Given the description of an element on the screen output the (x, y) to click on. 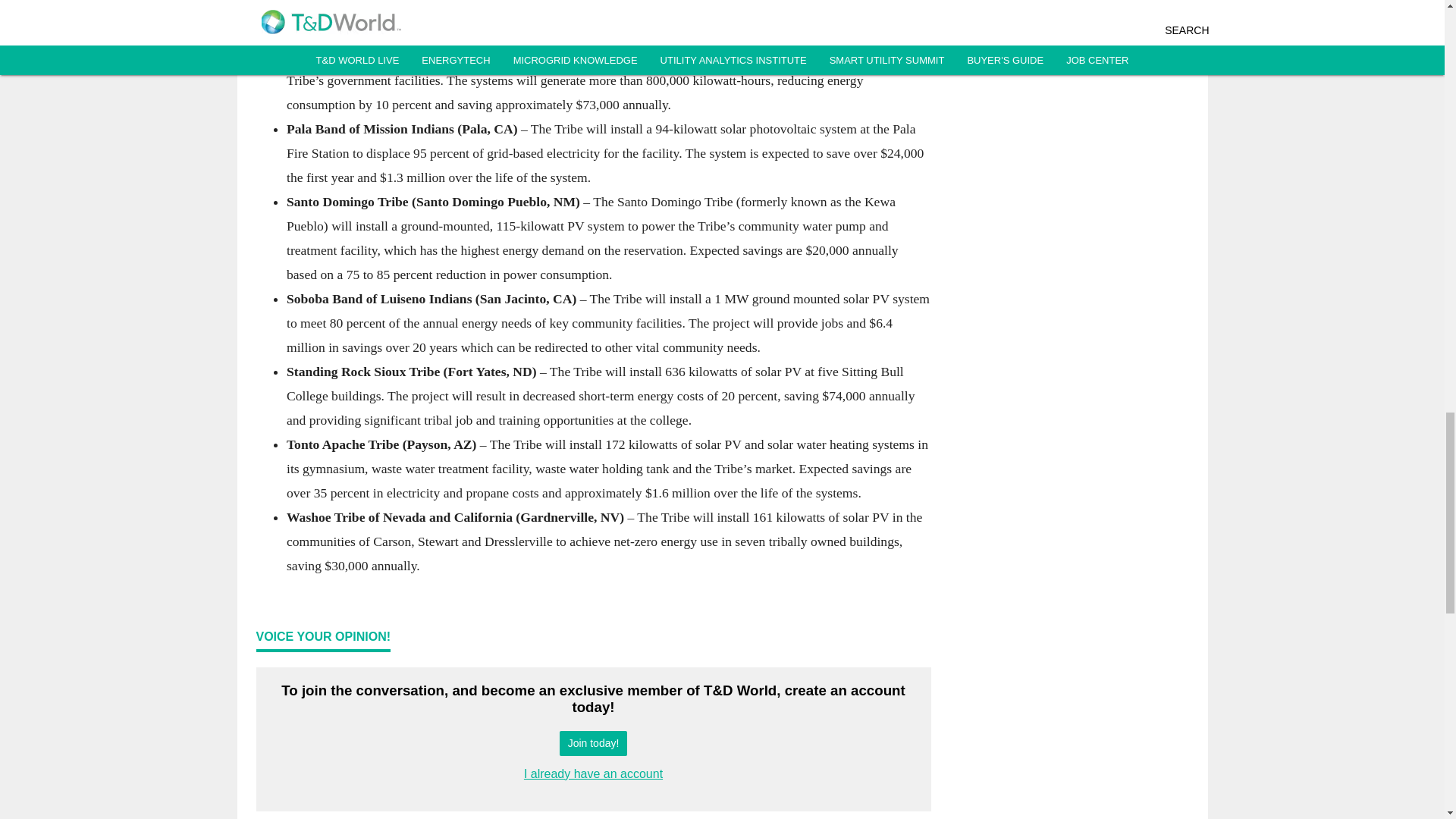
Join today! (593, 743)
I already have an account (593, 773)
